Given the description of an element on the screen output the (x, y) to click on. 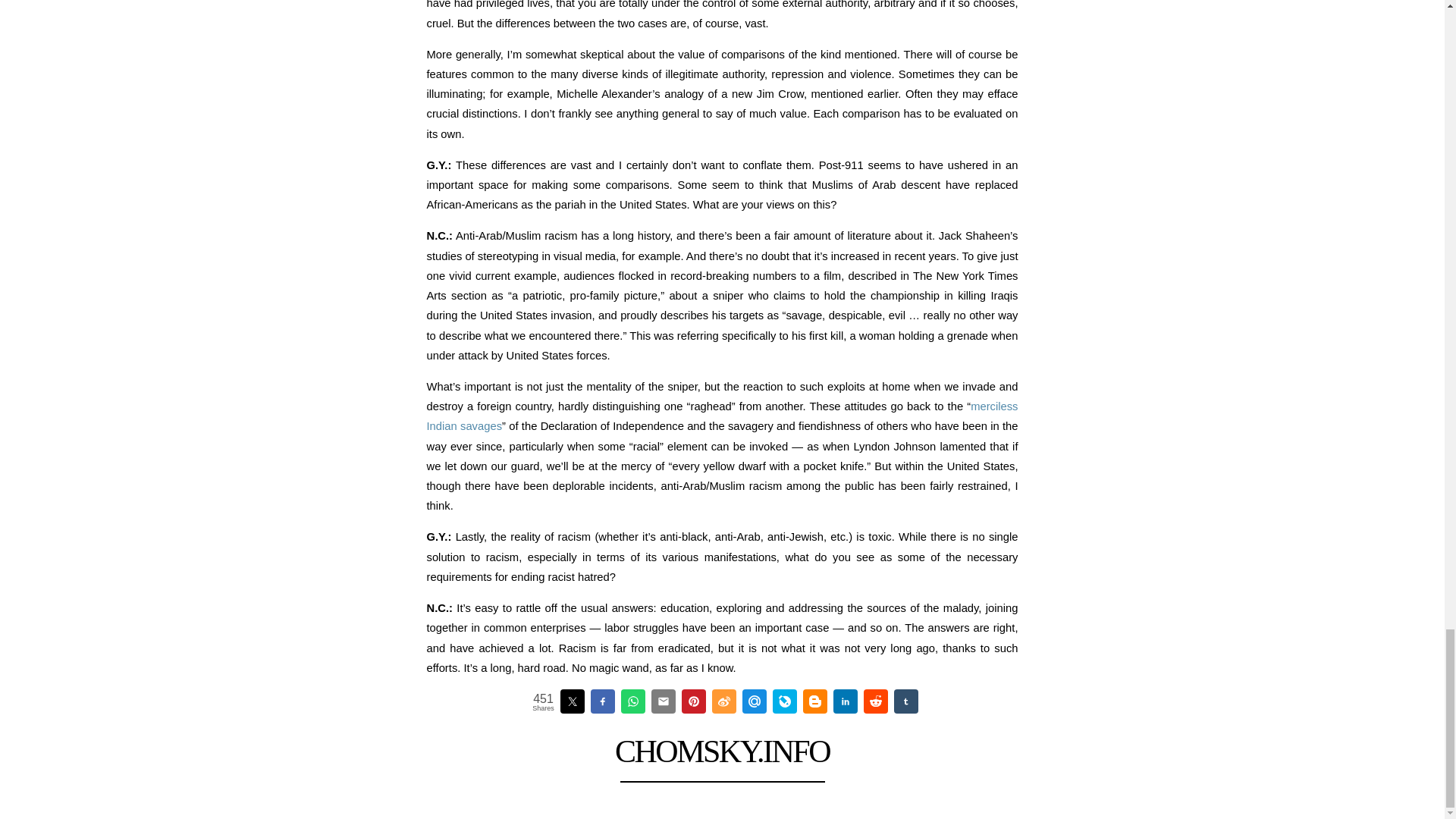
CHOMSKY.INFO (721, 751)
merciless Indian savages (721, 416)
